Given the description of an element on the screen output the (x, y) to click on. 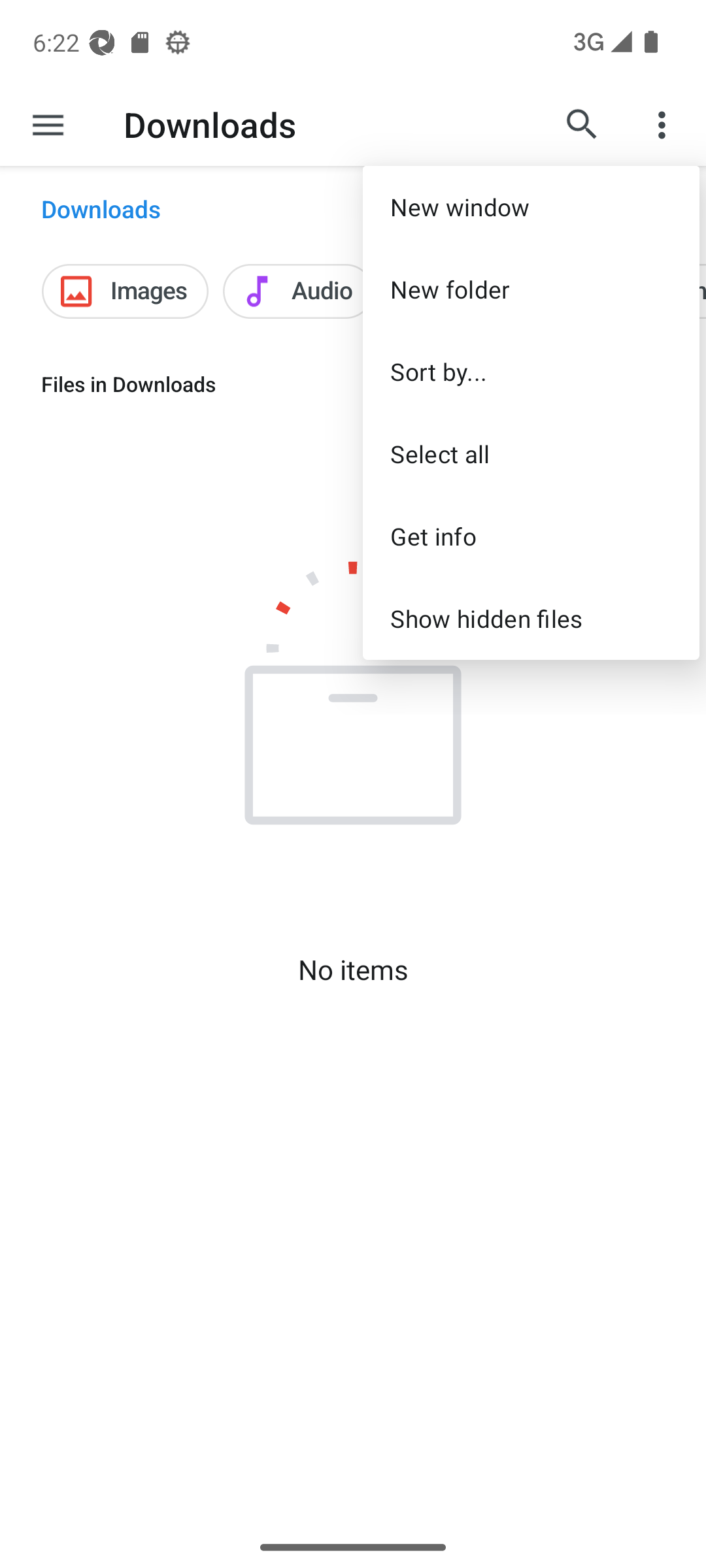
New window (530, 206)
New folder (530, 288)
Sort by... (530, 371)
Select all (530, 453)
Get info (530, 536)
Show hidden files (530, 618)
